Given the description of an element on the screen output the (x, y) to click on. 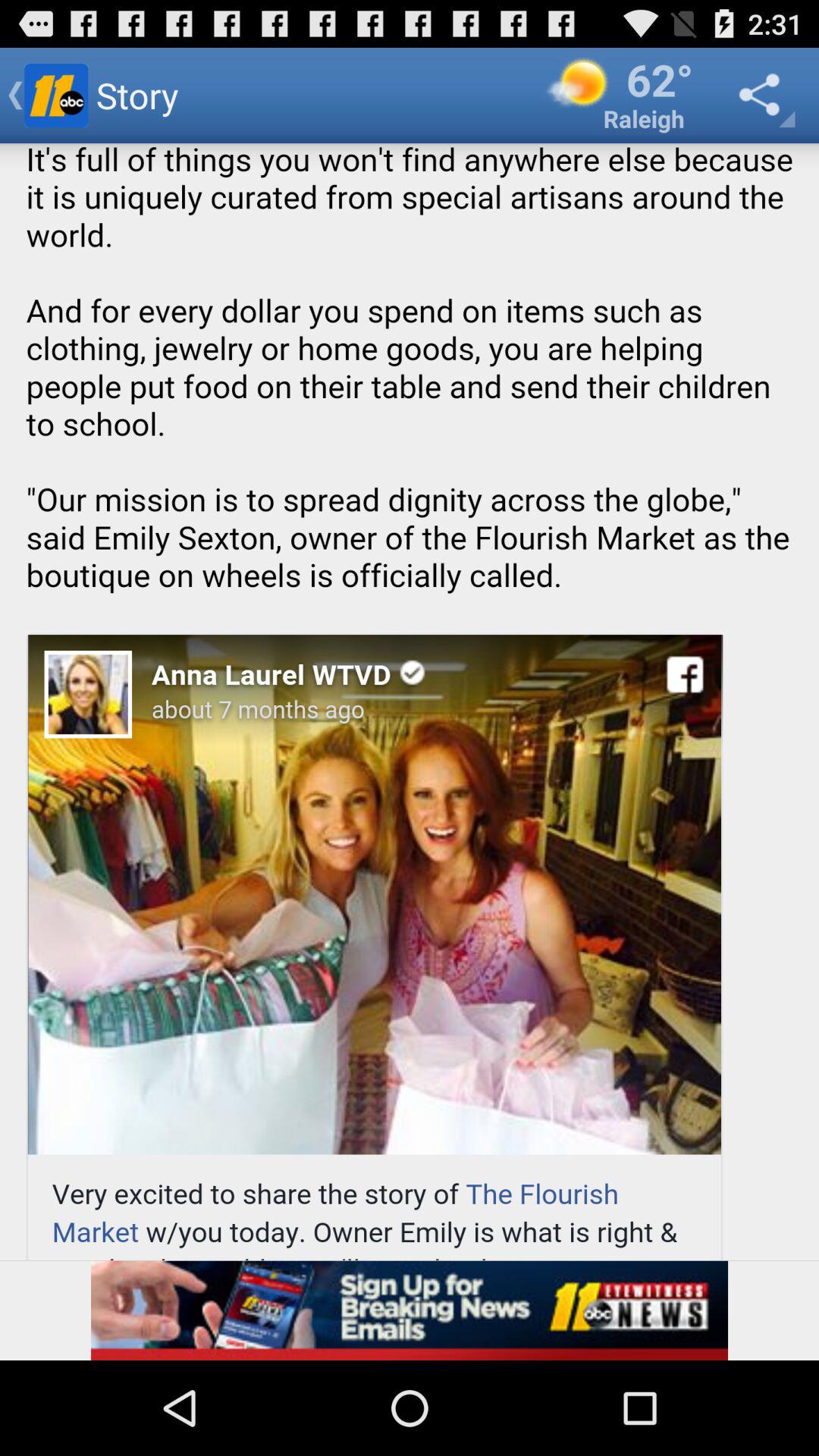
open advertisement (409, 1310)
